Given the description of an element on the screen output the (x, y) to click on. 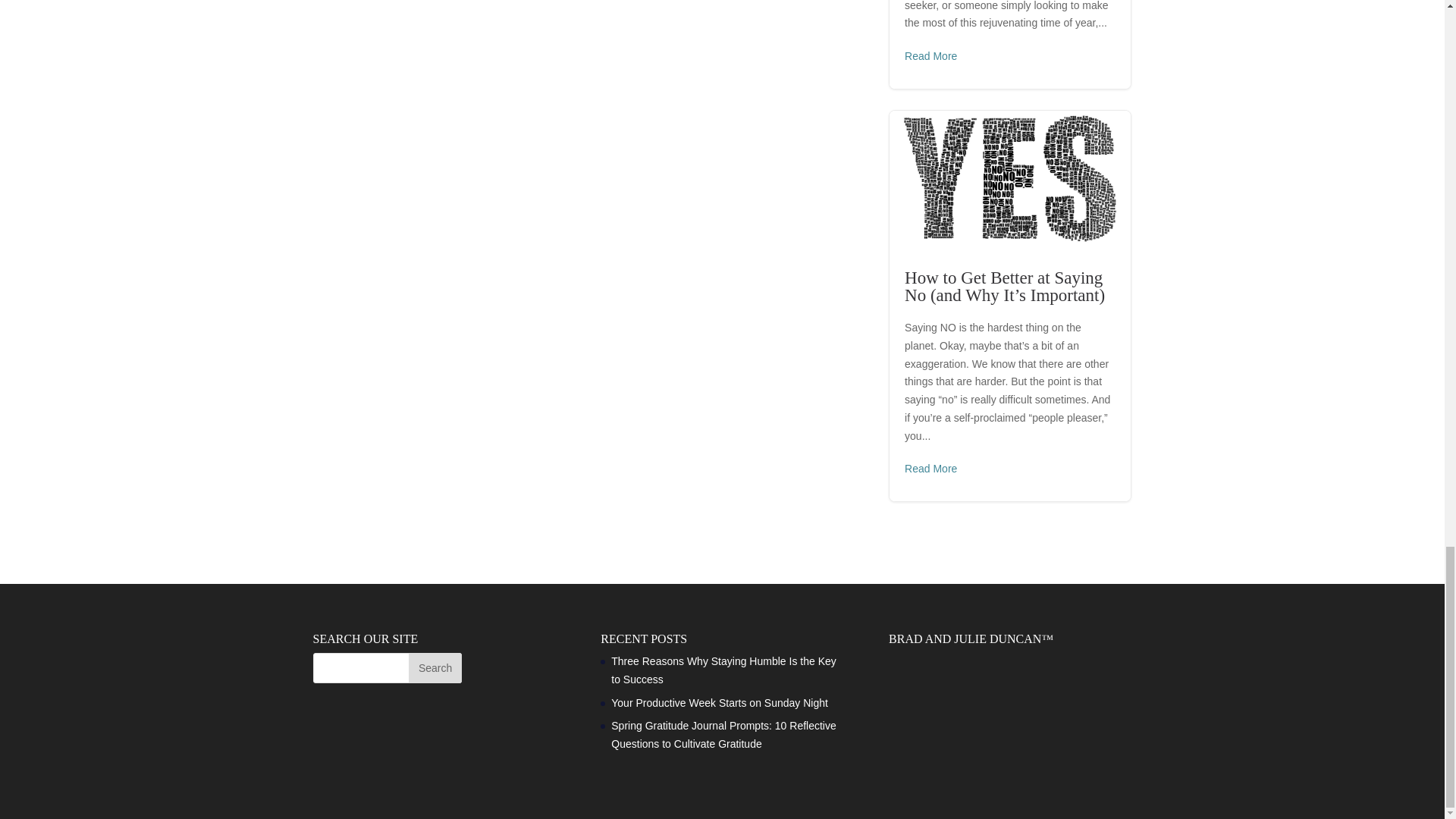
Your Productive Week Starts on Sunday Night  (721, 702)
Read More (930, 469)
Three Reasons Why Staying Humble Is the Key to Success  (723, 670)
Search (435, 667)
Read More (930, 56)
Search (435, 667)
